Given the description of an element on the screen output the (x, y) to click on. 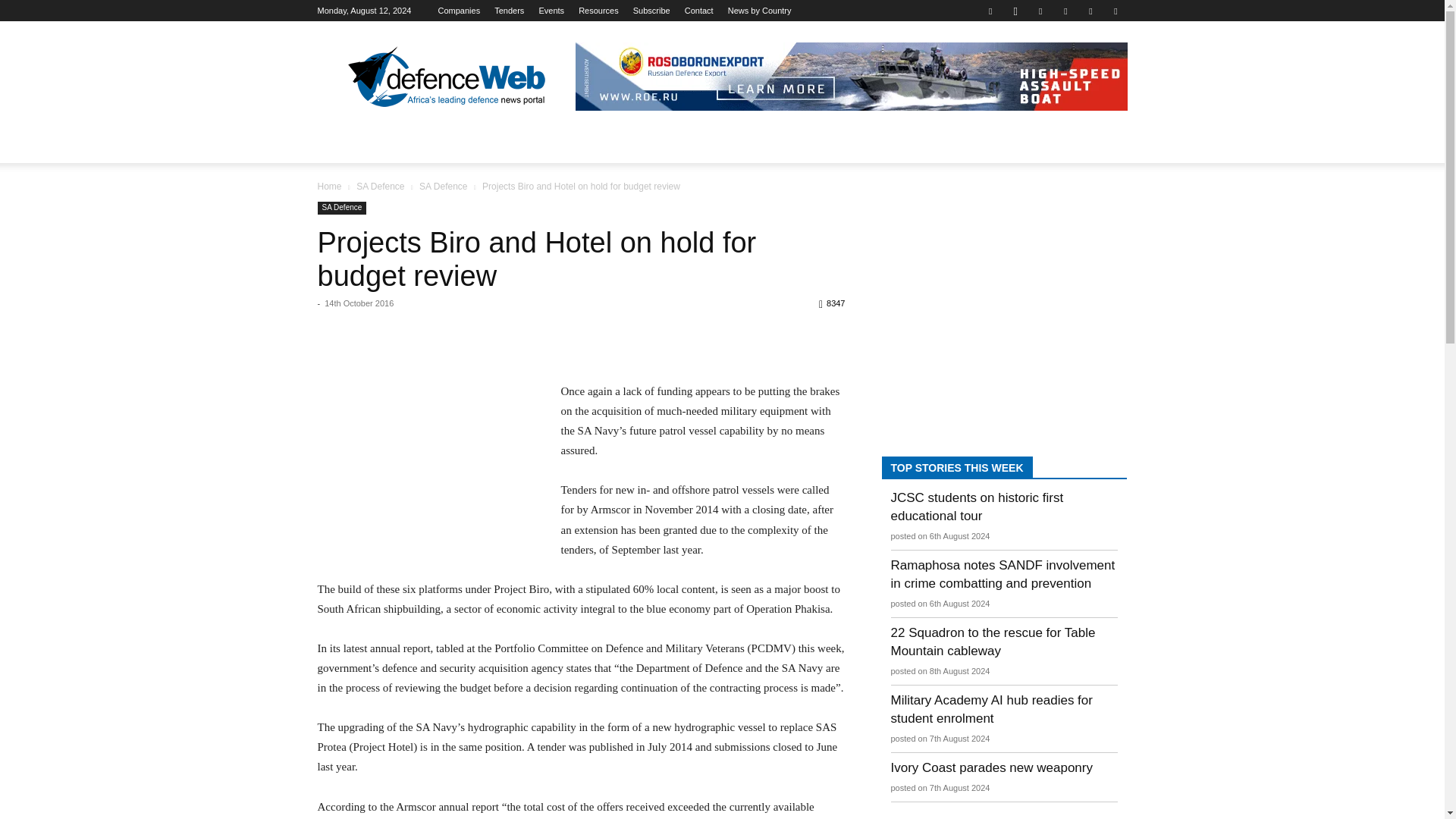
Facebook (989, 10)
Youtube (1114, 10)
Twitter (1090, 10)
Linkedin (1040, 10)
Instagram (1015, 10)
Mail (1065, 10)
